Given the description of an element on the screen output the (x, y) to click on. 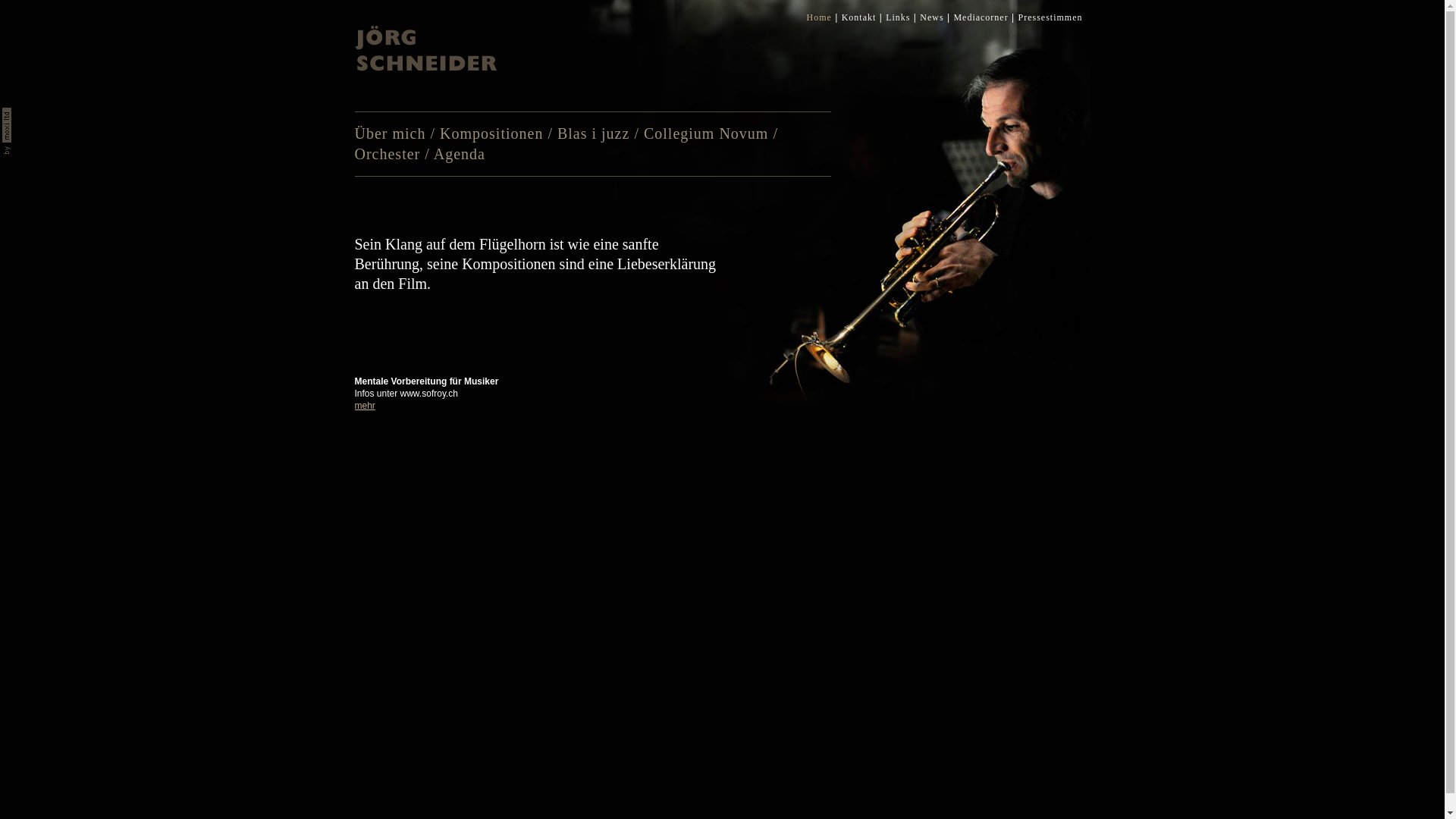
Links Element type: text (897, 17)
mehr Element type: text (364, 405)
Collegium Novum Element type: text (705, 133)
Orchester Element type: text (387, 153)
Kompositionen Element type: text (490, 133)
News Element type: text (931, 17)
Mediacorner Element type: text (980, 17)
Home Element type: text (818, 17)
Agenda Element type: text (459, 153)
Pressestimmen Element type: text (1049, 17)
Kontakt Element type: text (858, 17)
Blas i juzz Element type: text (593, 133)
